Given the description of an element on the screen output the (x, y) to click on. 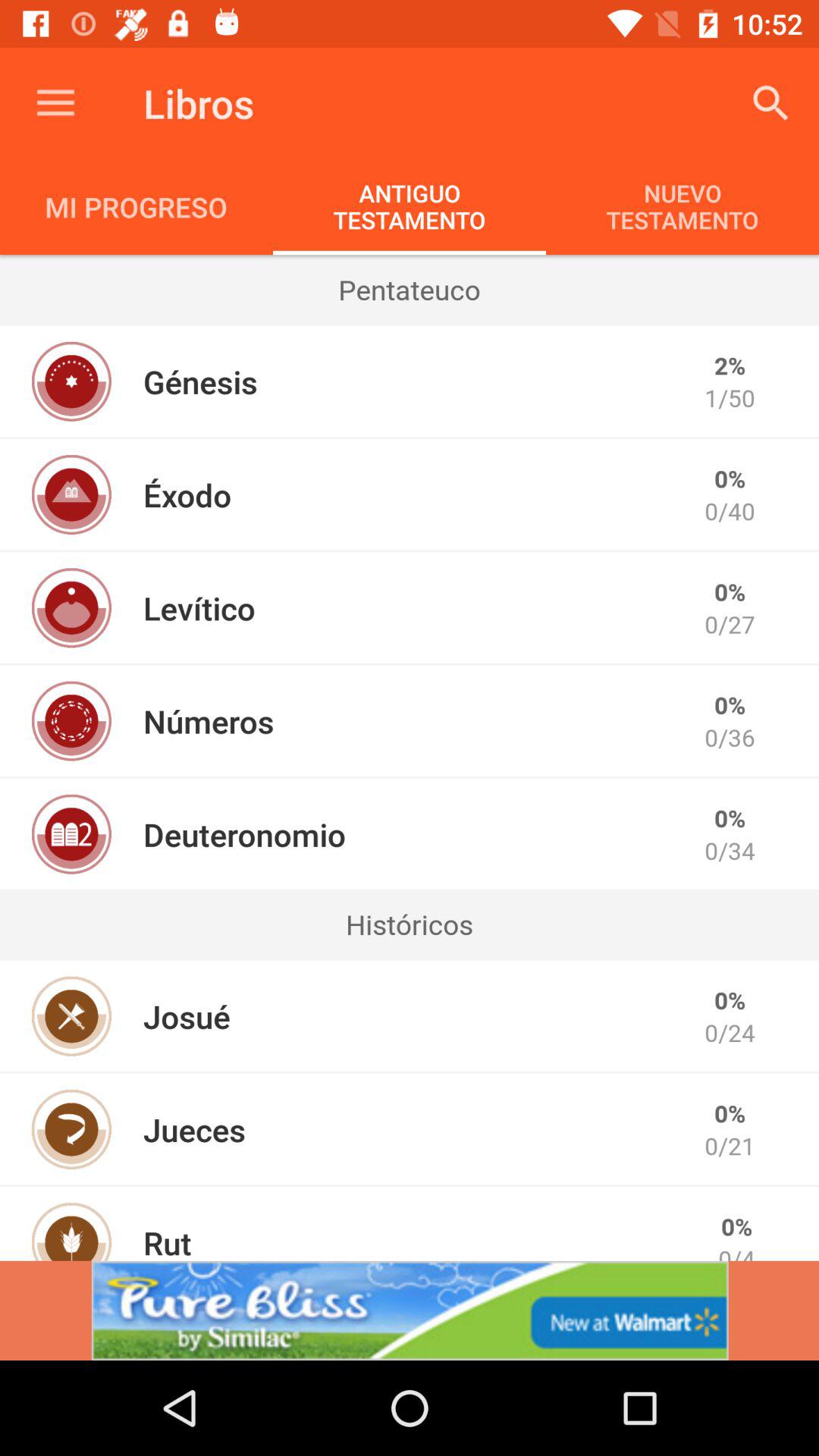
select the jueces item (194, 1129)
